Given the description of an element on the screen output the (x, y) to click on. 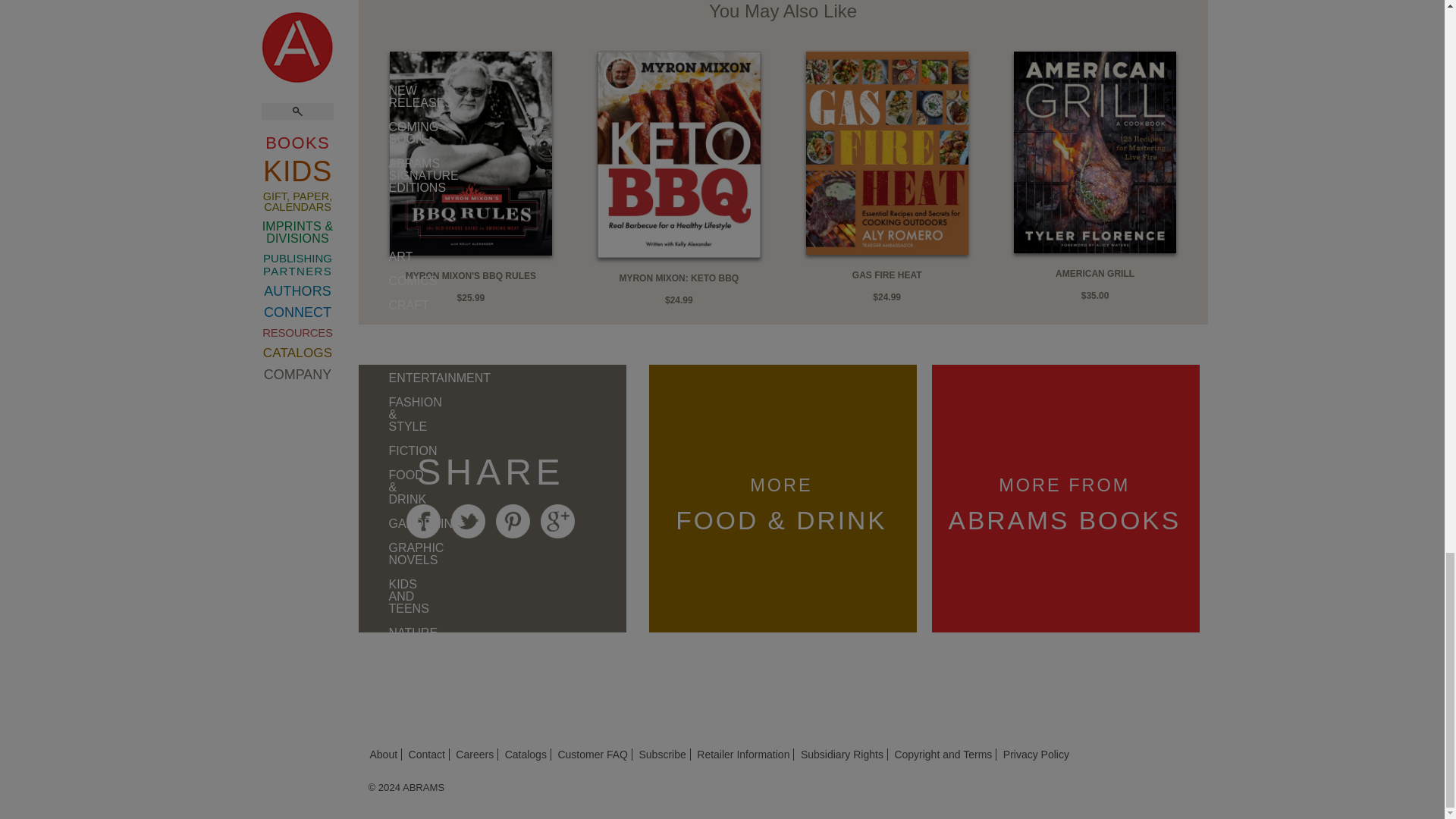
Journals (373, 336)
Coloring Books (373, 402)
Guided Journals (373, 366)
Academic Resources (373, 125)
Amulet Books (373, 44)
Notebooks (373, 433)
Abrams Fanfare (373, 13)
Notebook Sets (373, 463)
